Given the description of an element on the screen output the (x, y) to click on. 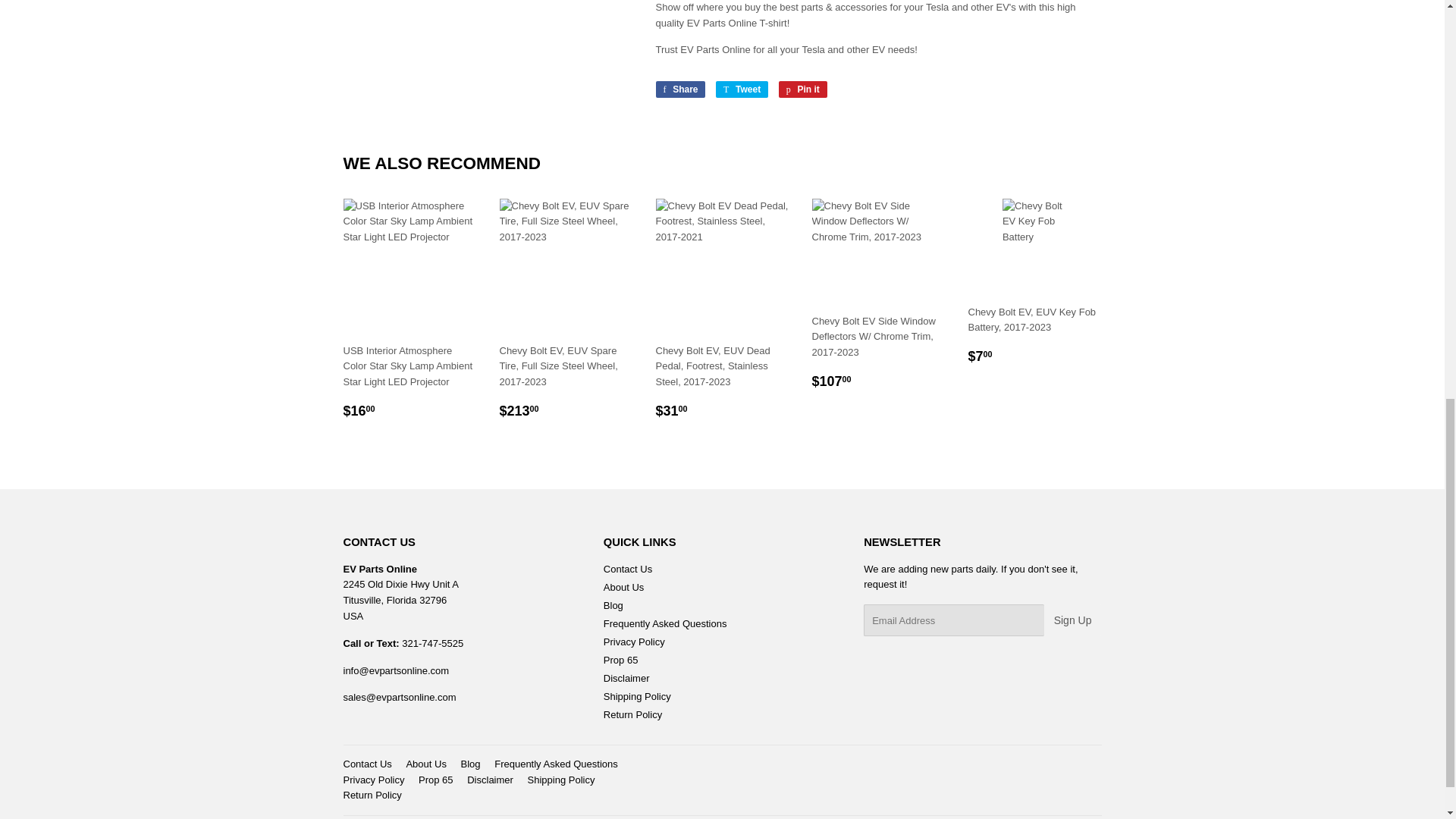
Share on Facebook (679, 89)
Pin on Pinterest (802, 89)
Tweet on Twitter (742, 89)
